Given the description of an element on the screen output the (x, y) to click on. 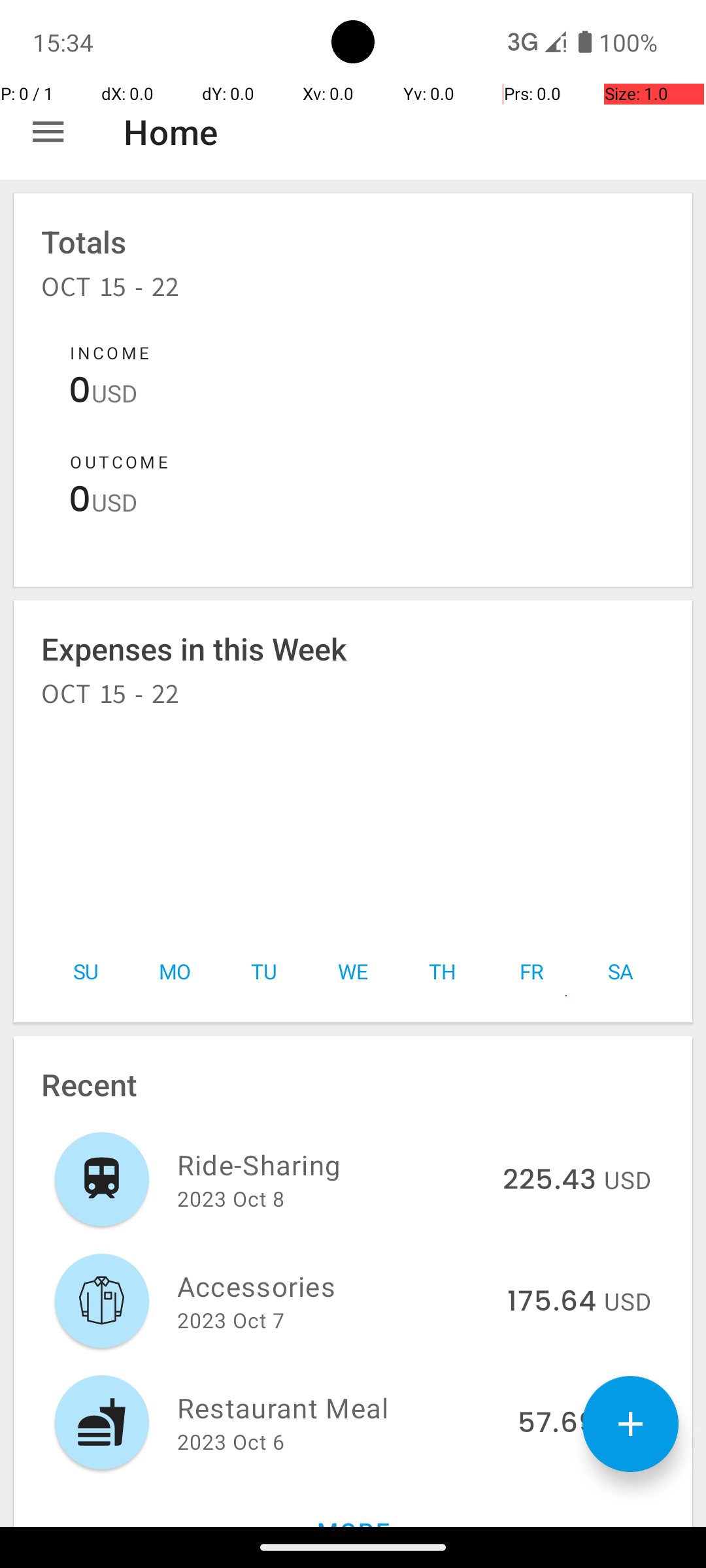
MORE Element type: android.widget.Button (352, 1504)
Ride-Sharing Element type: android.widget.TextView (332, 1164)
2023 Oct 8 Element type: android.widget.TextView (230, 1198)
225.43 Element type: android.widget.TextView (549, 1180)
Accessories Element type: android.widget.TextView (334, 1285)
2023 Oct 7 Element type: android.widget.TextView (230, 1320)
175.64 Element type: android.widget.TextView (551, 1301)
Restaurant Meal Element type: android.widget.TextView (339, 1407)
2023 Oct 6 Element type: android.widget.TextView (230, 1441)
57.69 Element type: android.widget.TextView (556, 1423)
